Given the description of an element on the screen output the (x, y) to click on. 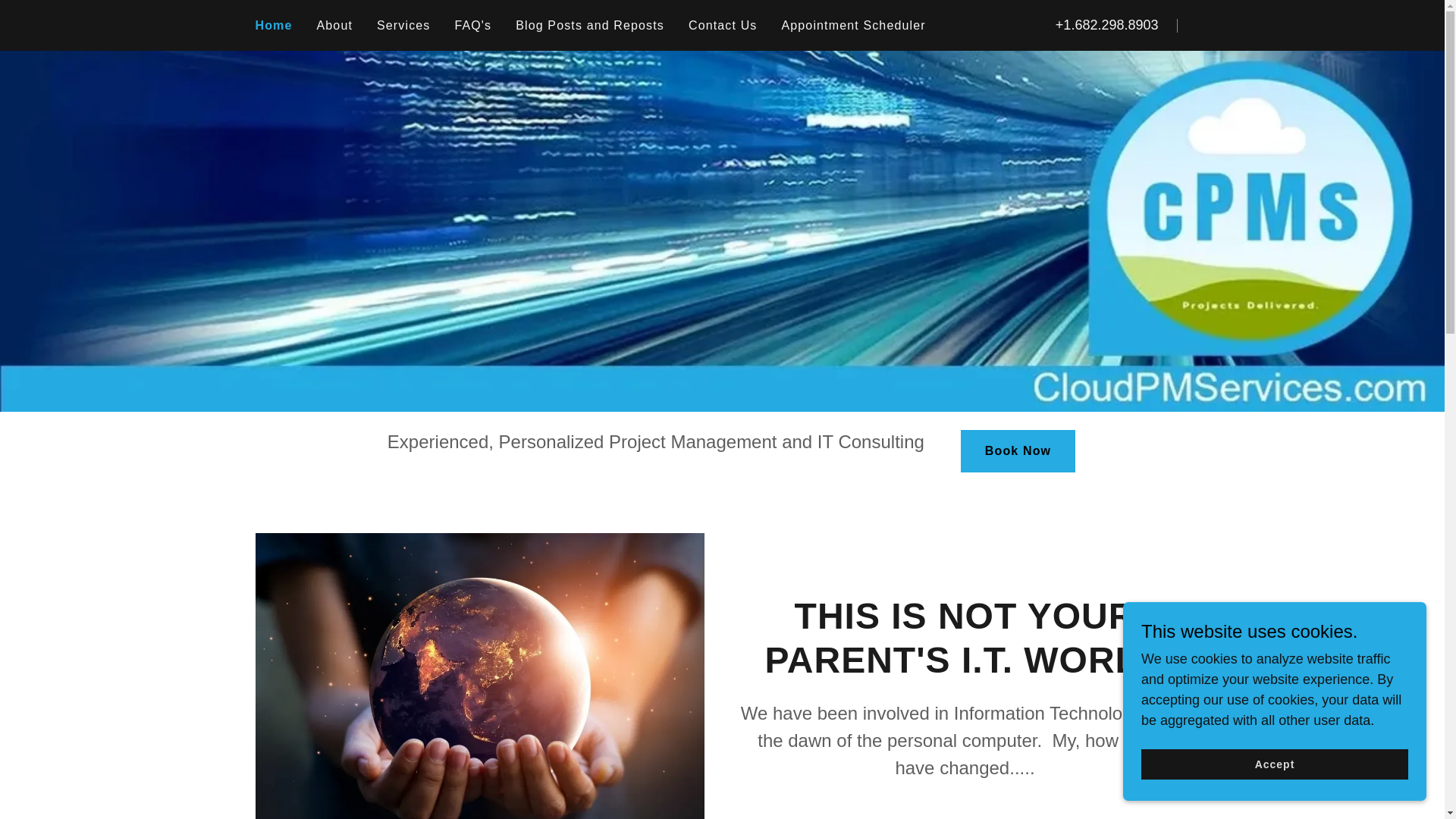
Contact Us (722, 25)
About (335, 25)
Accept (1274, 764)
FAQ's (472, 25)
Book Now (1017, 450)
Blog Posts and Reposts (589, 25)
Home (273, 25)
Services (402, 25)
Appointment Scheduler (853, 25)
